Given the description of an element on the screen output the (x, y) to click on. 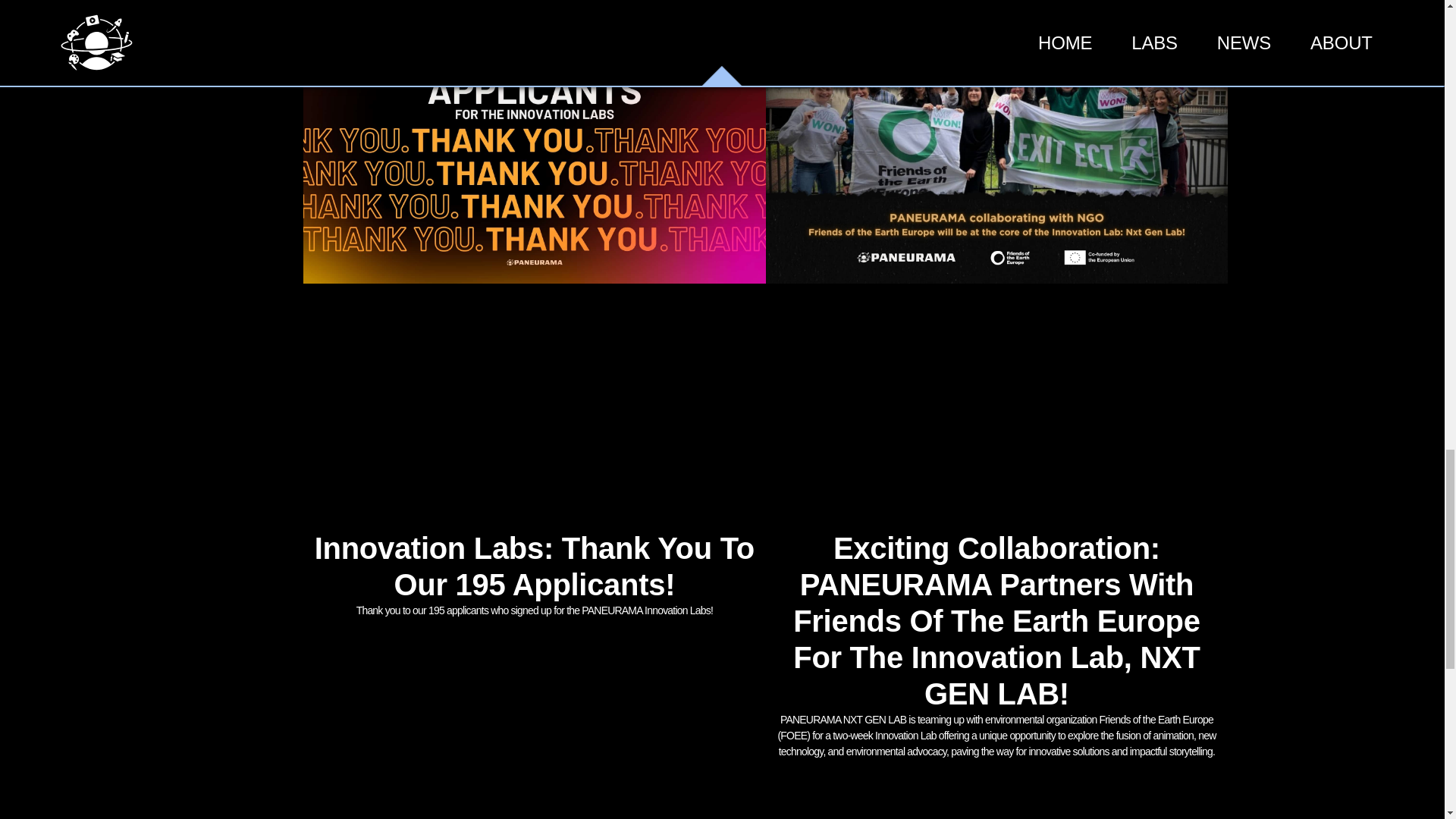
Innovation Labs: Thank You To Our 195 Applicants! (534, 566)
